Given the description of an element on the screen output the (x, y) to click on. 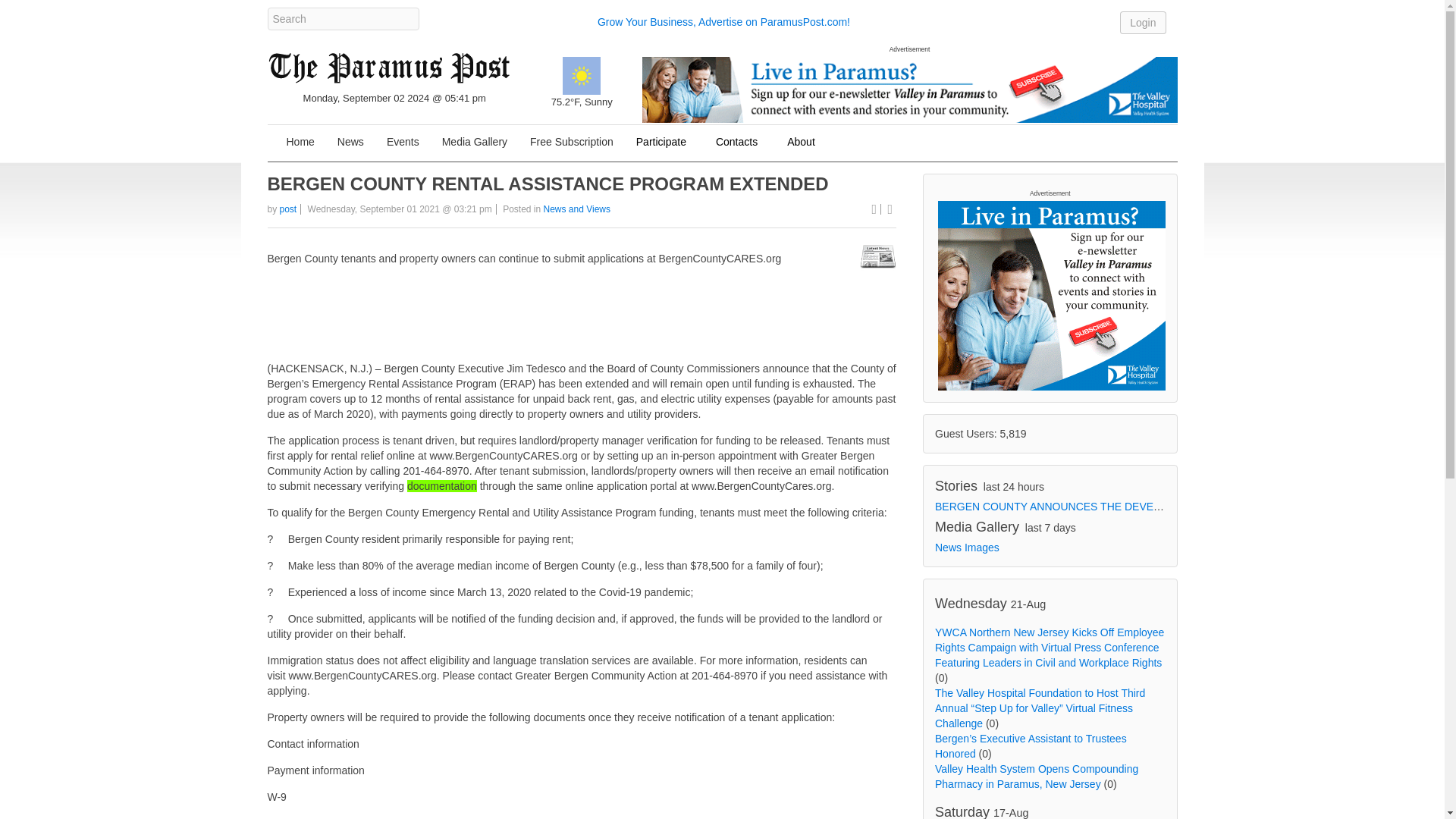
Media Gallery (474, 142)
Grow Your Business, Advertise on ParamusPost.com! (723, 21)
News (350, 142)
BERGEN COUNTY RENTAL ASSISTANCE PROGRAM EXTENDED (547, 183)
Events (402, 142)
Login (1142, 21)
News Images (966, 547)
News and Views (576, 208)
Free Subscription (571, 142)
post (288, 208)
